Given the description of an element on the screen output the (x, y) to click on. 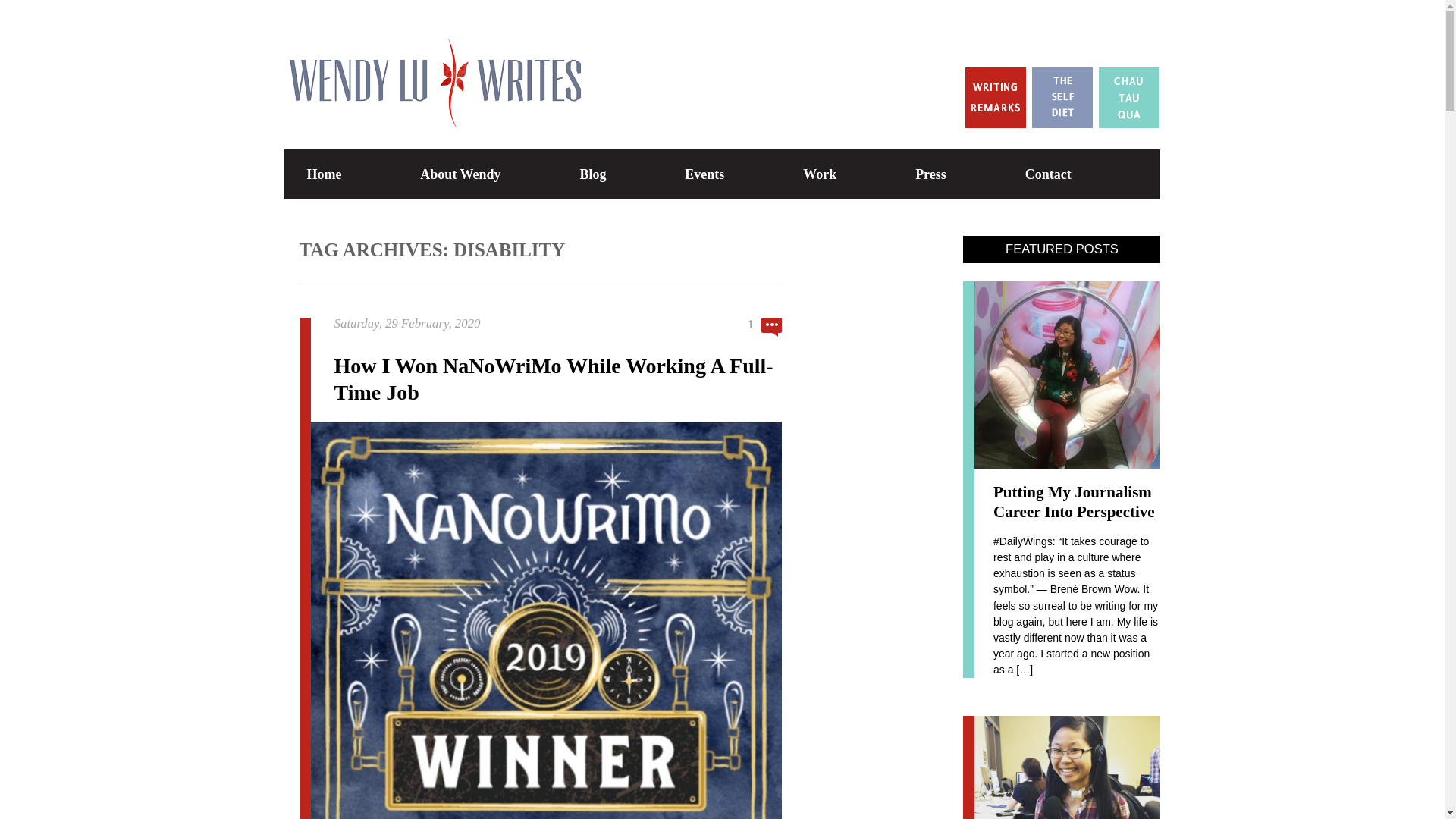
WRITING (887, 228)
Wendy Lu Writes (430, 50)
Events (704, 174)
Home (323, 174)
1 (765, 326)
Skip to content (773, 157)
Work (819, 174)
Wendy Lu Writes (430, 50)
Contact (1047, 174)
Press (930, 174)
